Given the description of an element on the screen output the (x, y) to click on. 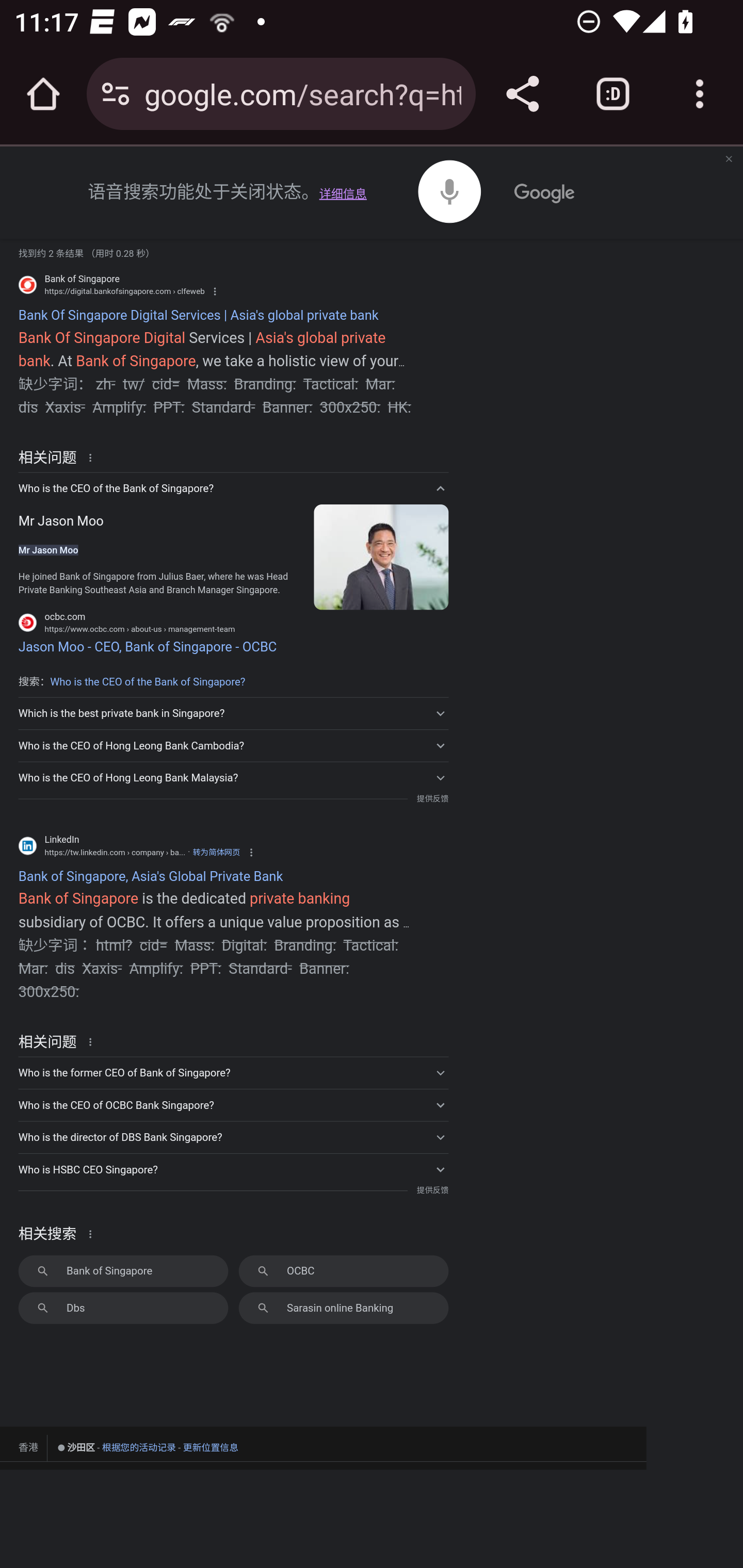
Open the home page (43, 93)
Connection is secure (115, 93)
Share (522, 93)
Switch or close tabs (612, 93)
Customize and control Google Chrome (699, 93)
关闭 (727, 159)
搜索 (446, 176)
详细信息 (342, 194)
关于这条结果的详细信息 (93, 457)
Who is the CEO of the Bank of Singapore? (232, 487)
Who is the CEO of the Bank of Singapore? (147, 681)
Which is the best private bank in Singapore? (232, 712)
Who is the CEO of Hong Leong Bank Cambodia? (232, 745)
Who is the CEO of Hong Leong Bank Malaysia? (232, 777)
提供反馈 (432, 798)
转为简体网页 (216, 851)
关于这条结果的详细信息 (93, 1040)
Who is the former CEO of Bank of Singapore? (232, 1072)
Who is the CEO of OCBC Bank Singapore? (232, 1104)
Who is the director of DBS Bank Singapore? (232, 1137)
Who is HSBC CEO Singapore? (232, 1168)
提供反馈 (432, 1189)
关于这条结果的详细信息 (93, 1233)
Bank of Singapore (122, 1270)
OCBC (343, 1270)
Dbs (122, 1307)
Sarasin online Banking (343, 1307)
沙田区  - 根据您的活动记录 (116, 1447)
更新位置信息 (210, 1446)
